Given the description of an element on the screen output the (x, y) to click on. 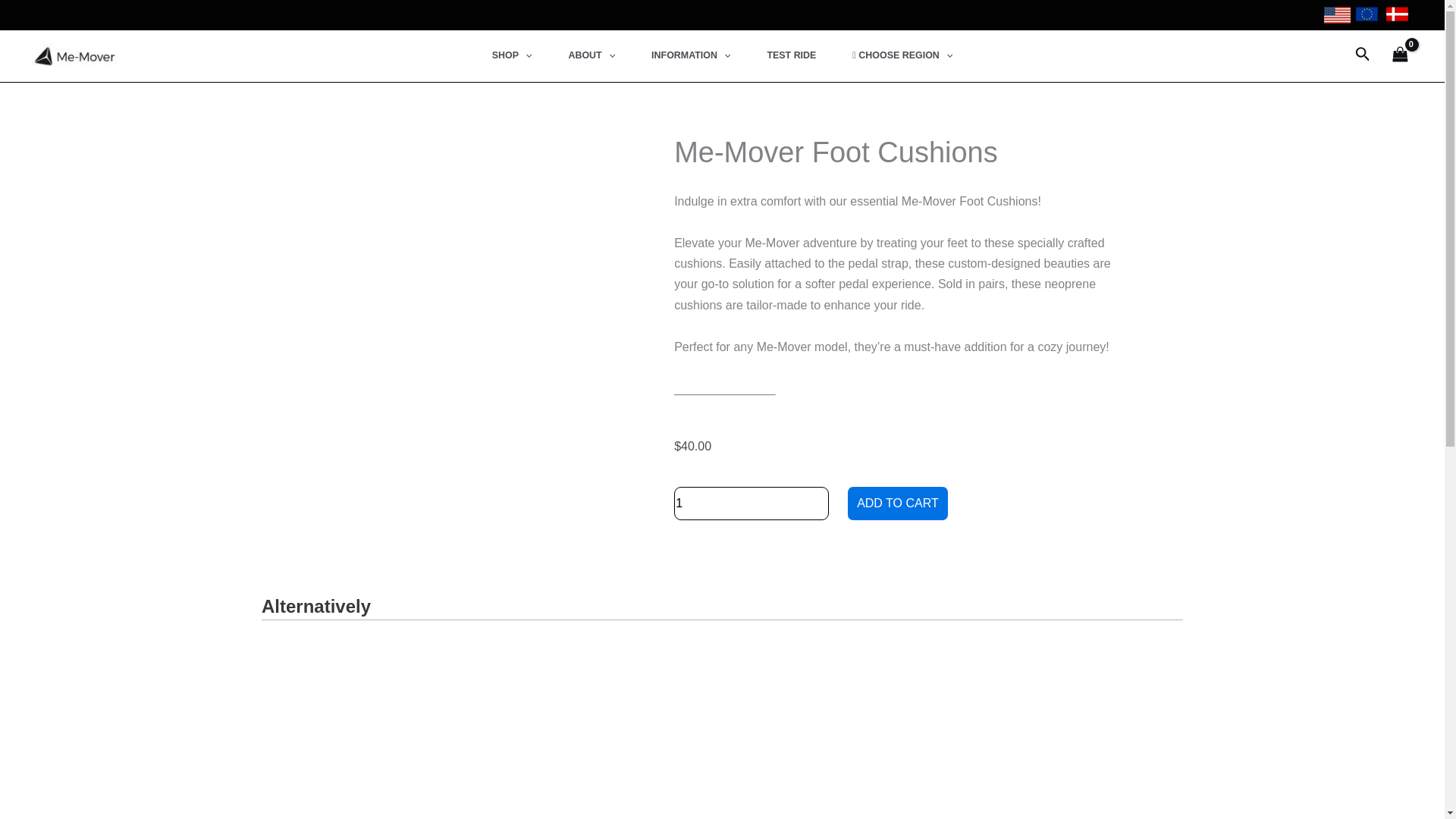
CHOOSE REGION (902, 55)
INFORMATION (690, 55)
1 (751, 503)
ABOUT (591, 55)
TEST RIDE (791, 55)
SHOP (512, 55)
